Given the description of an element on the screen output the (x, y) to click on. 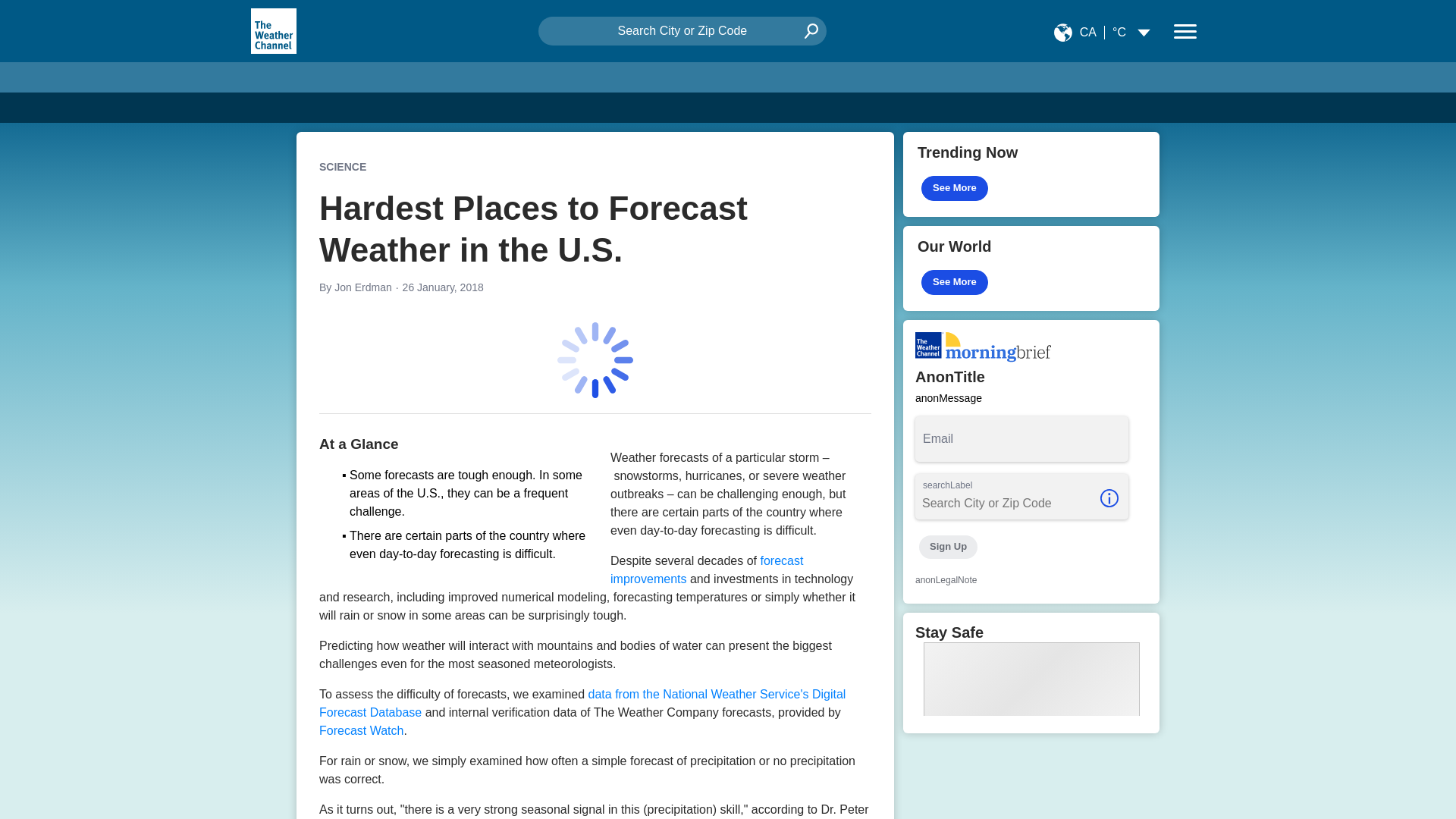
The Weather Channel (273, 30)
See More (954, 282)
Trending Now (1030, 174)
The Weather Channel (273, 31)
See More (954, 188)
Stay Safe (1030, 672)
Forecast Watch (360, 730)
forecast improvements (706, 569)
Our World (1030, 268)
